Given the description of an element on the screen output the (x, y) to click on. 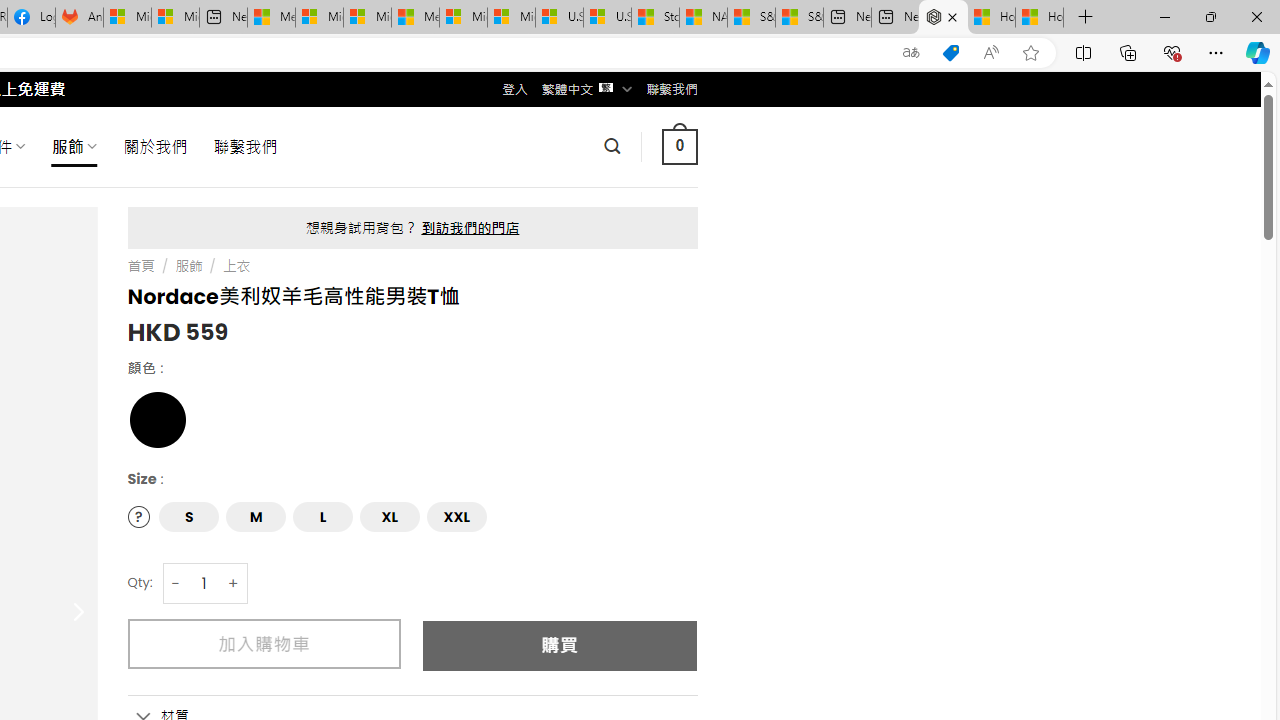
 0  (679, 146)
Show translate options (910, 53)
This site has coupons! Shopping in Microsoft Edge (950, 53)
